Given the description of an element on the screen output the (x, y) to click on. 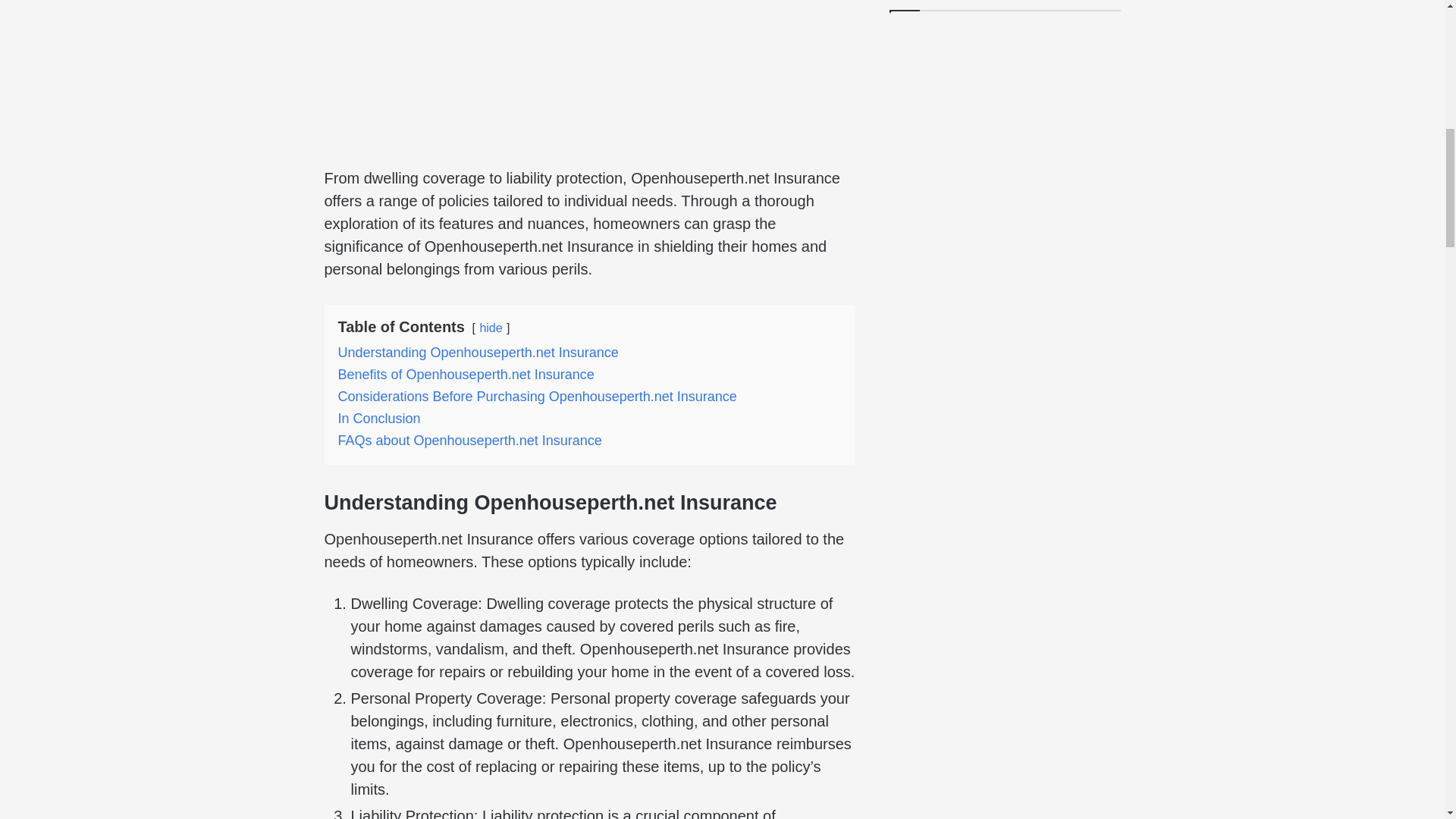
hide (490, 327)
Advertisement (590, 77)
Benefits of Openhouseperth.net Insurance (465, 374)
In Conclusion (378, 418)
Understanding Openhouseperth.net Insurance (477, 352)
FAQs about Openhouseperth.net Insurance (469, 440)
